Given the description of an element on the screen output the (x, y) to click on. 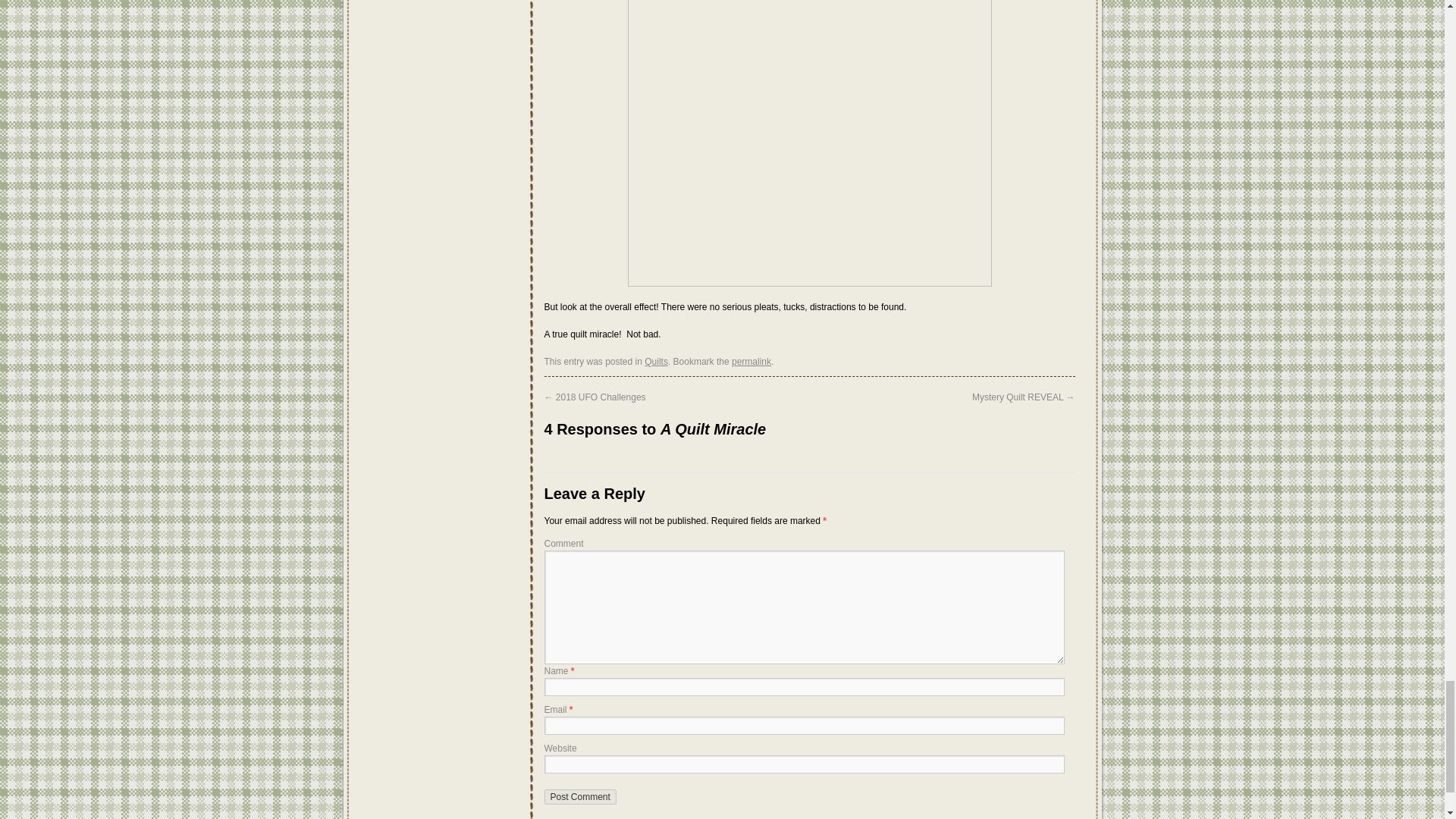
Permalink to A Quilt Miracle (751, 361)
Post Comment (579, 796)
Post Comment (579, 796)
Quilts (656, 361)
permalink (751, 361)
